Given the description of an element on the screen output the (x, y) to click on. 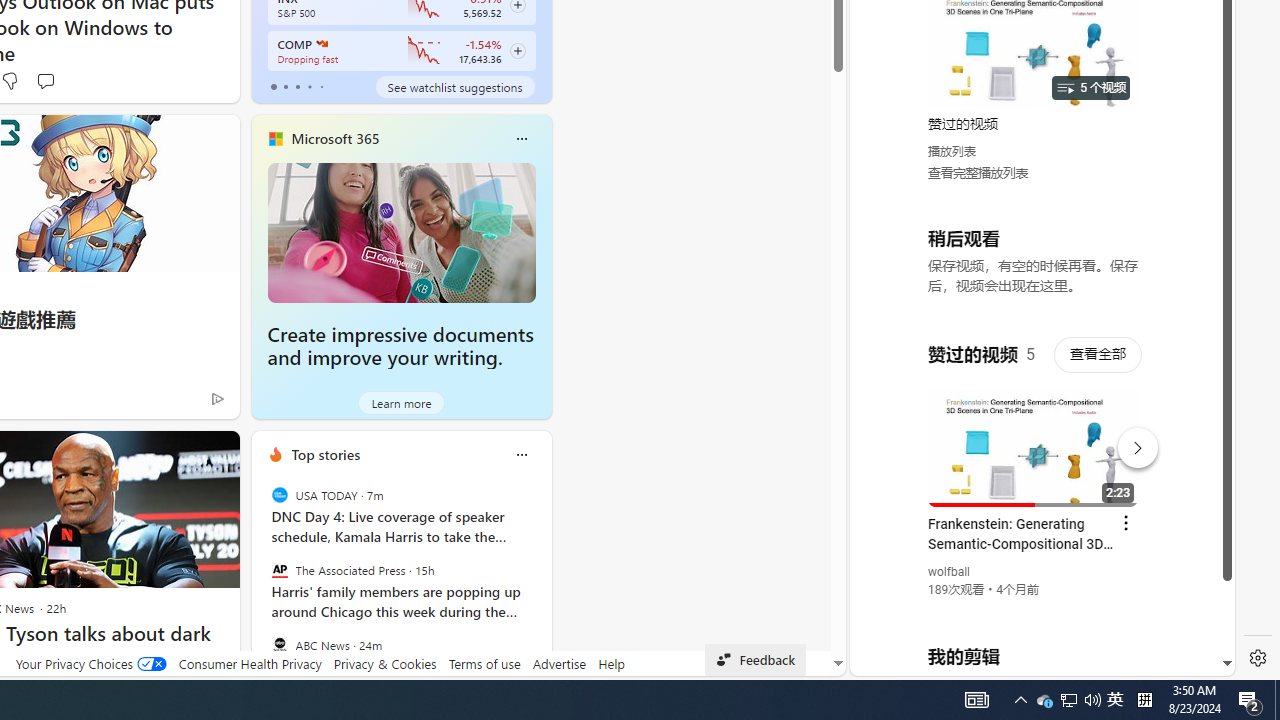
YouTube (1034, 432)
Ad Choice (217, 398)
USA TODAY (279, 494)
US[ju] (917, 660)
Advertise (559, 663)
Start the conversation (45, 80)
Create impressive documents and improve your writing. (400, 346)
Learn more (401, 402)
Create impressive documents and improve your writing. (401, 232)
See more (214, 454)
